Given the description of an element on the screen output the (x, y) to click on. 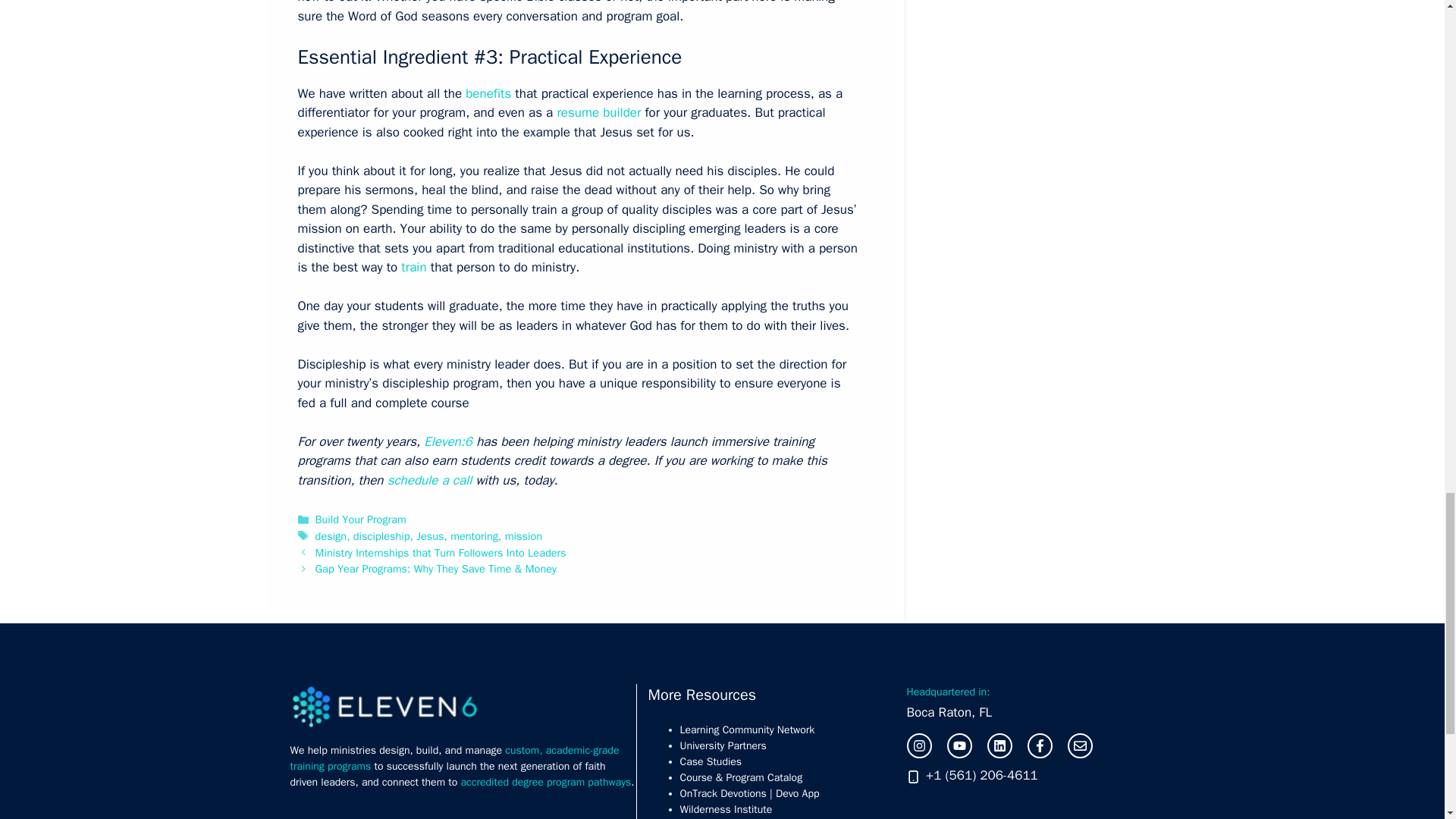
mentoring (473, 535)
resume builde (596, 112)
Build Your Program (360, 519)
train (413, 267)
discipleship (381, 535)
mission (523, 535)
benefits (488, 93)
Jesus (430, 535)
design (331, 535)
schedule a call (431, 480)
